Given the description of an element on the screen output the (x, y) to click on. 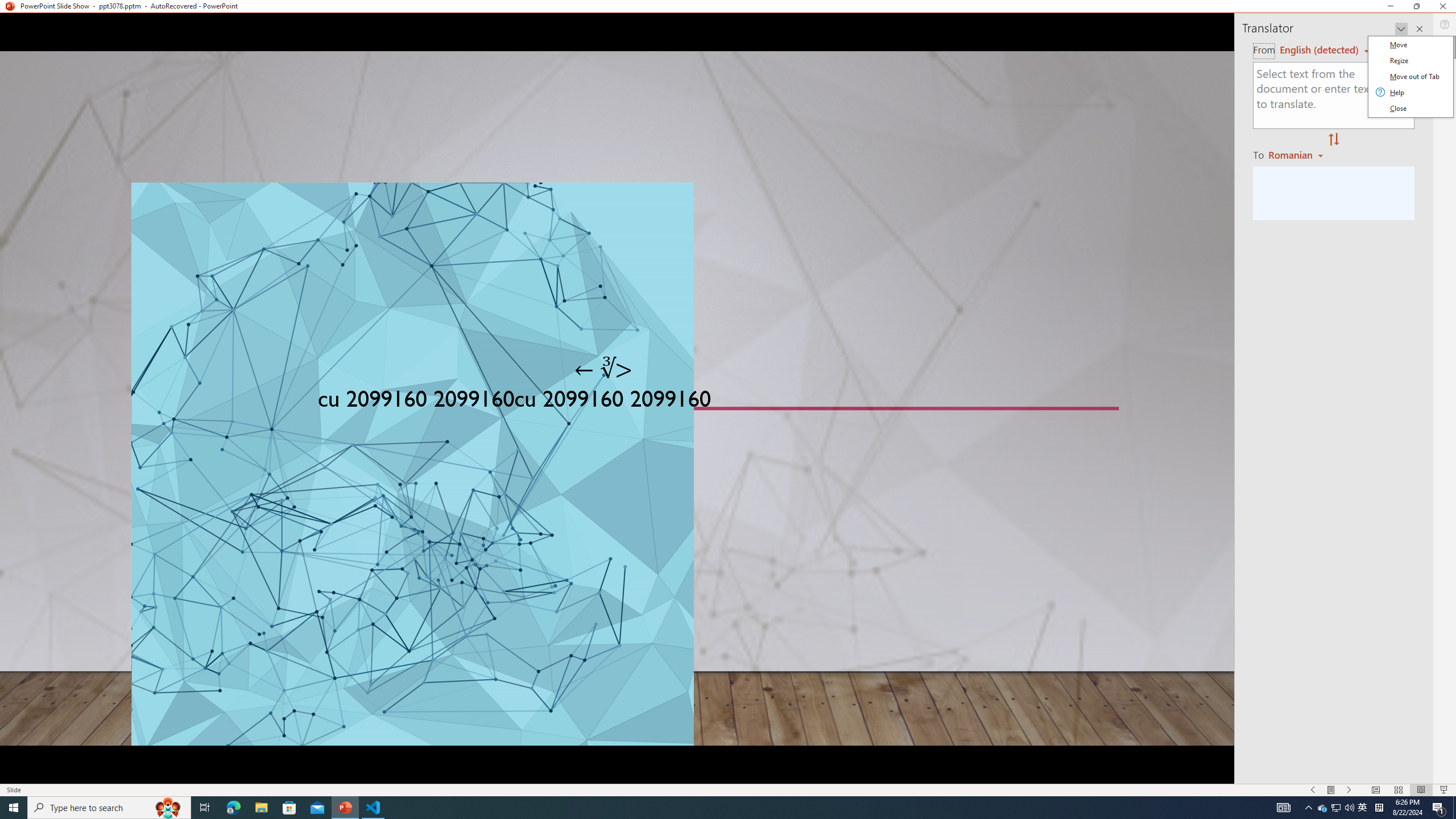
Romanian (1296, 154)
Action Center, 1 new notification (1439, 807)
